Given the description of an element on the screen output the (x, y) to click on. 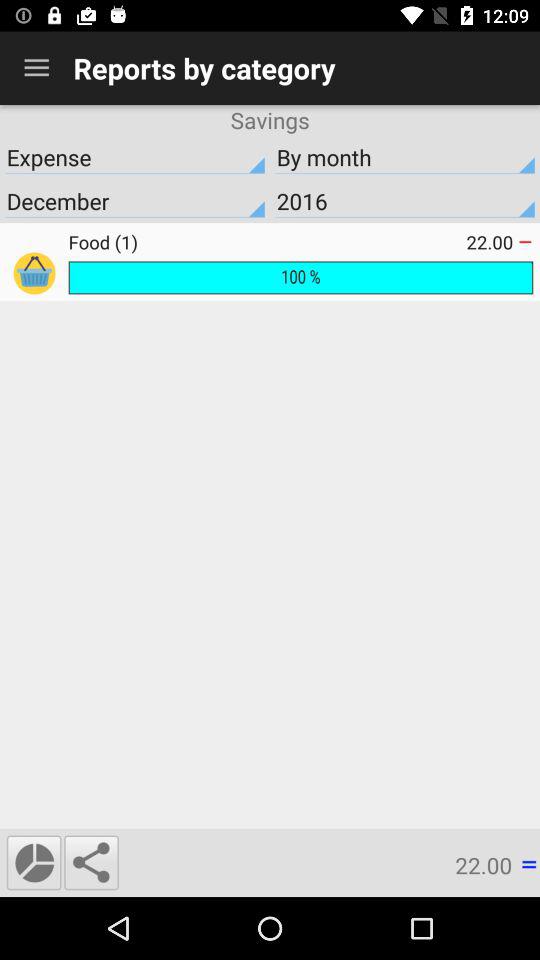
turn off the icon above food (1) (135, 201)
